Given the description of an element on the screen output the (x, y) to click on. 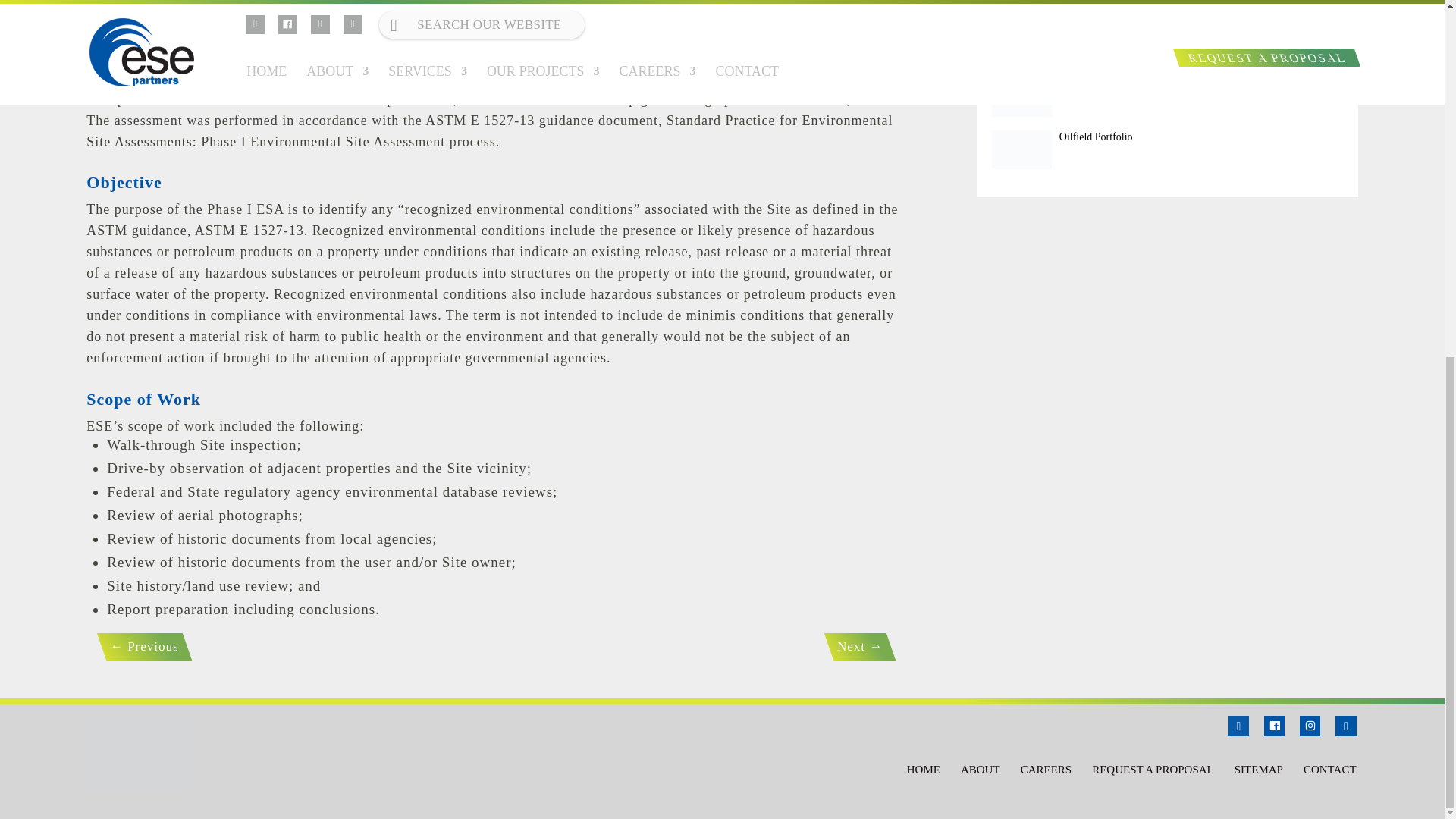
Facebook (1274, 725)
Instagram (1309, 725)
X (1341, 725)
Linkedin (1238, 725)
